Given the description of an element on the screen output the (x, y) to click on. 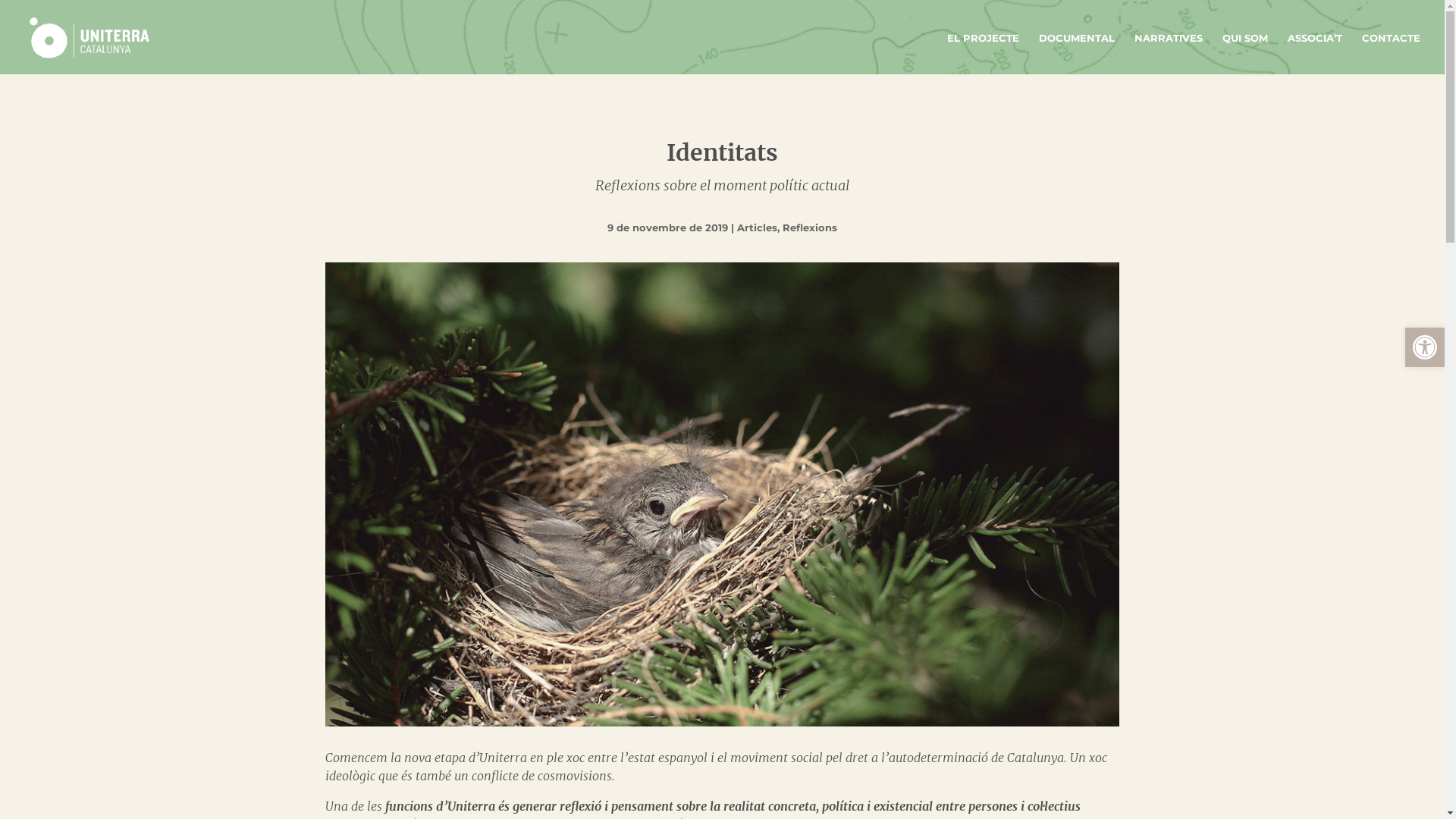
NARRATIVES Element type: text (1168, 53)
uniterra_identitats Element type: hover (722, 494)
DOCUMENTAL Element type: text (1076, 53)
Open toolbar
Accessibilitat Element type: text (1424, 347)
QUI SOM Element type: text (1244, 53)
EL PROJECTE Element type: text (983, 53)
CONTACTE Element type: text (1390, 53)
Reflexions Element type: text (809, 227)
Articles Element type: text (757, 227)
